Given the description of an element on the screen output the (x, y) to click on. 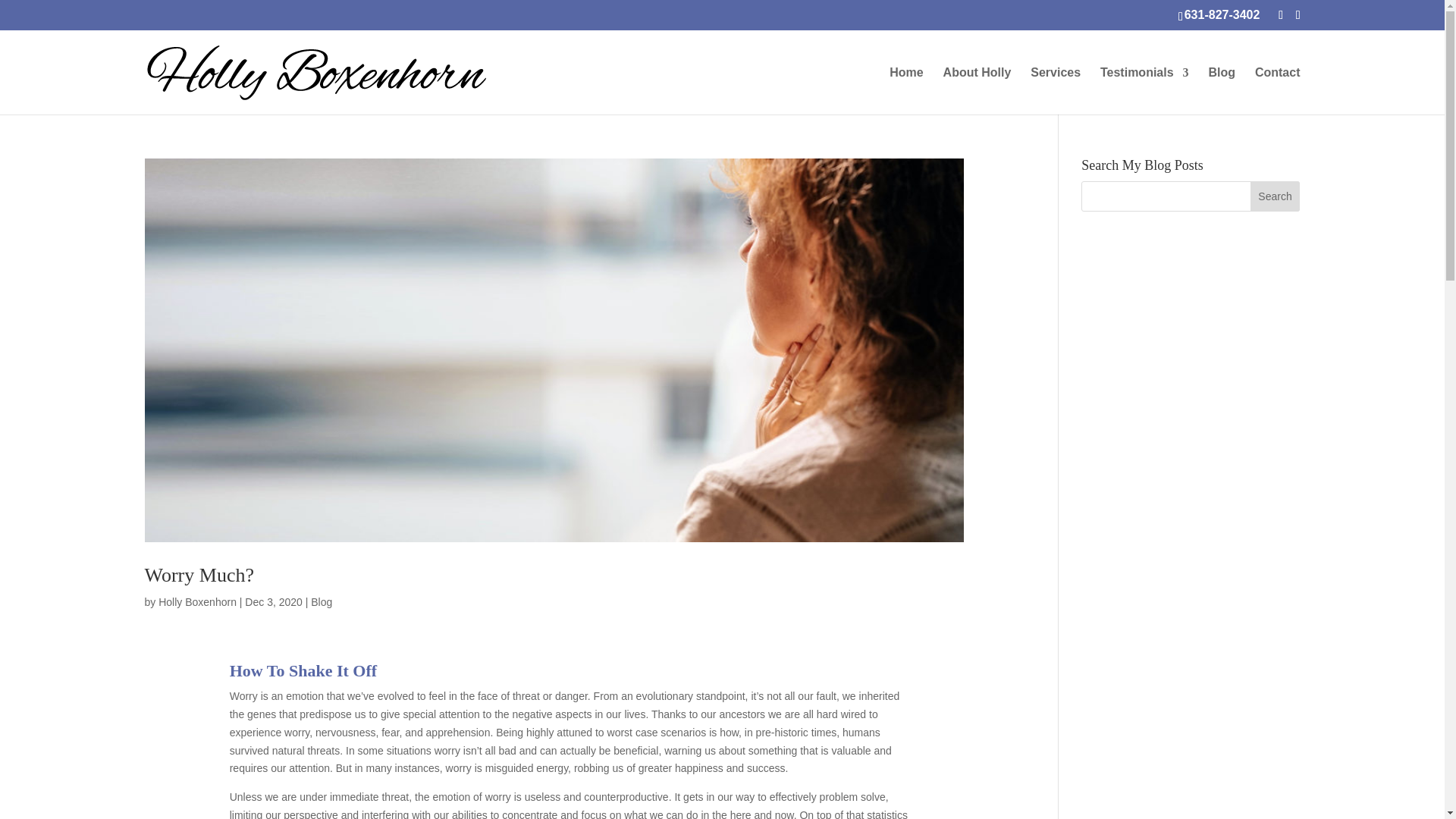
Contact (1277, 90)
Blog (321, 602)
Posts by Holly Boxenhorn (196, 602)
Blog (1222, 90)
Testimonials (1144, 90)
Worry Much? (198, 575)
Holly Boxenhorn (196, 602)
Search (1275, 195)
Services (1055, 90)
About Holly (977, 90)
Search (1275, 195)
Home (906, 90)
